Given the description of an element on the screen output the (x, y) to click on. 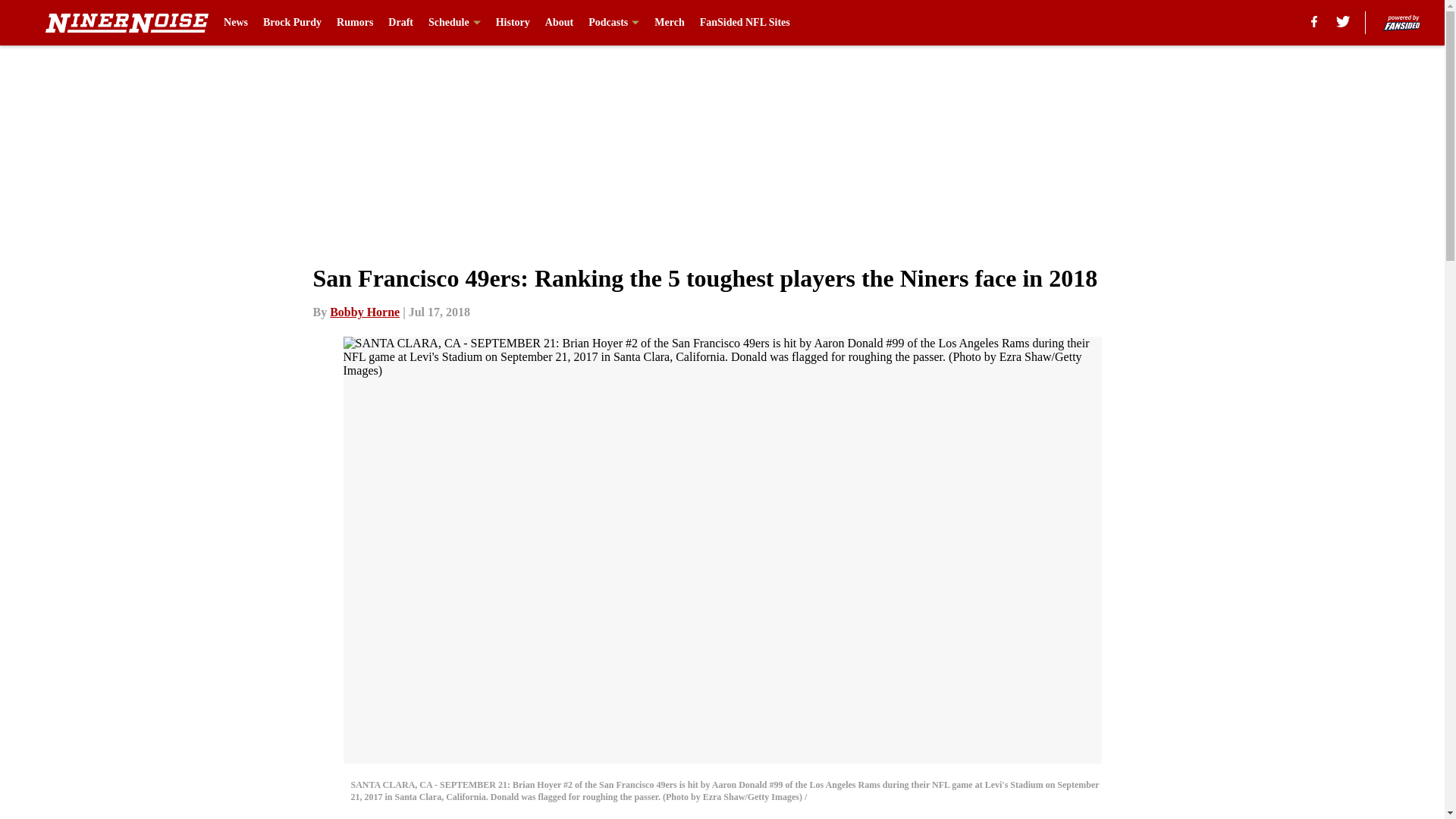
FanSided NFL Sites (745, 22)
Brock Purdy (292, 22)
Rumors (354, 22)
News (235, 22)
Bobby Horne (364, 311)
History (512, 22)
Draft (400, 22)
About (558, 22)
Merch (668, 22)
